Given the description of an element on the screen output the (x, y) to click on. 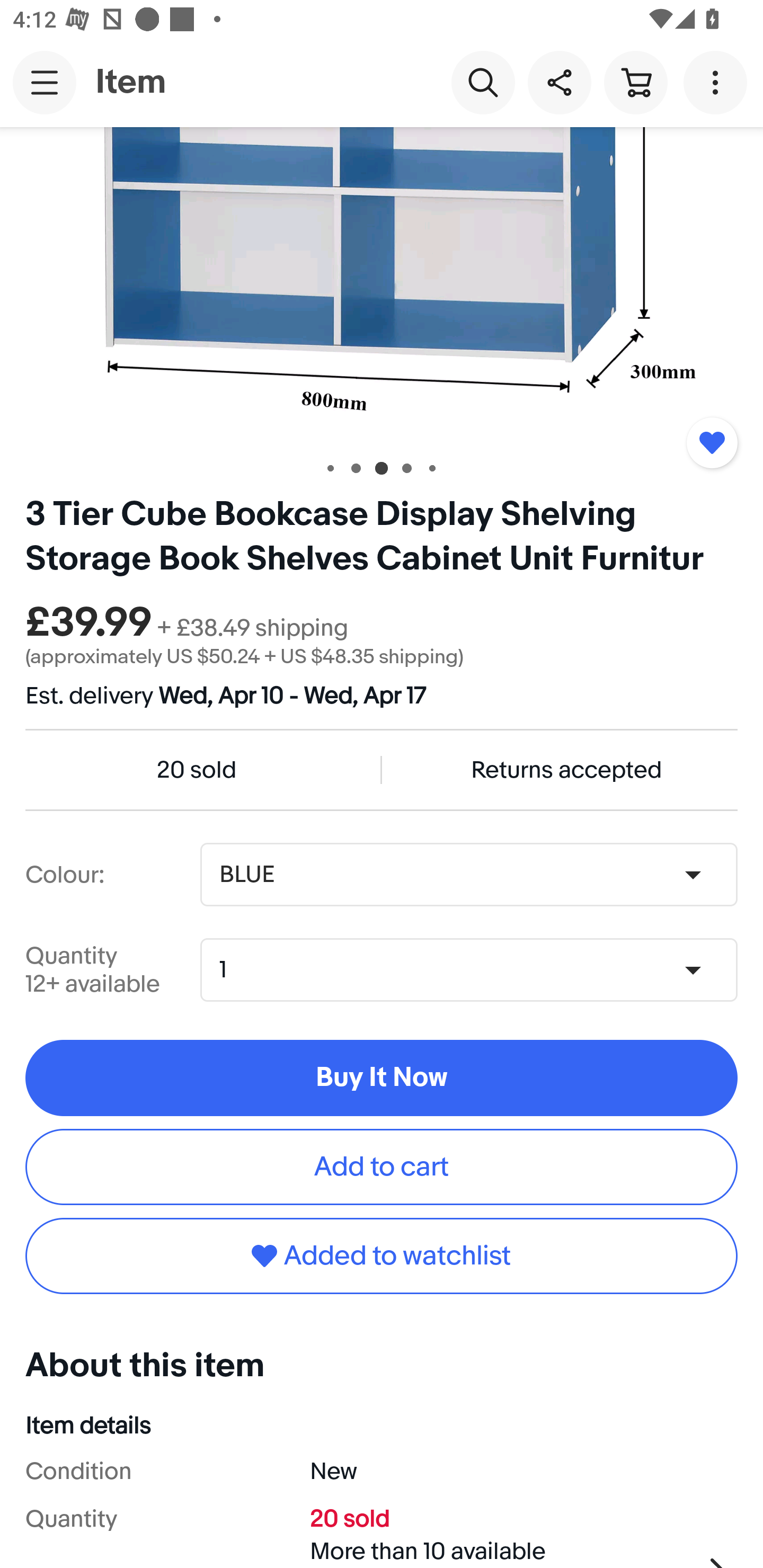
Main navigation, open (44, 82)
Search (482, 81)
Share this item (559, 81)
Cart button shopping cart (635, 81)
More options (718, 81)
Item image 21 of 44 (381, 284)
Added to watchlist (711, 442)
Colour:,BLUE BLUE (468, 874)
Quantity,1,12+ available 1 (474, 969)
Buy It Now (381, 1077)
Add to cart (381, 1166)
Added to watchlist (381, 1255)
